Given the description of an element on the screen output the (x, y) to click on. 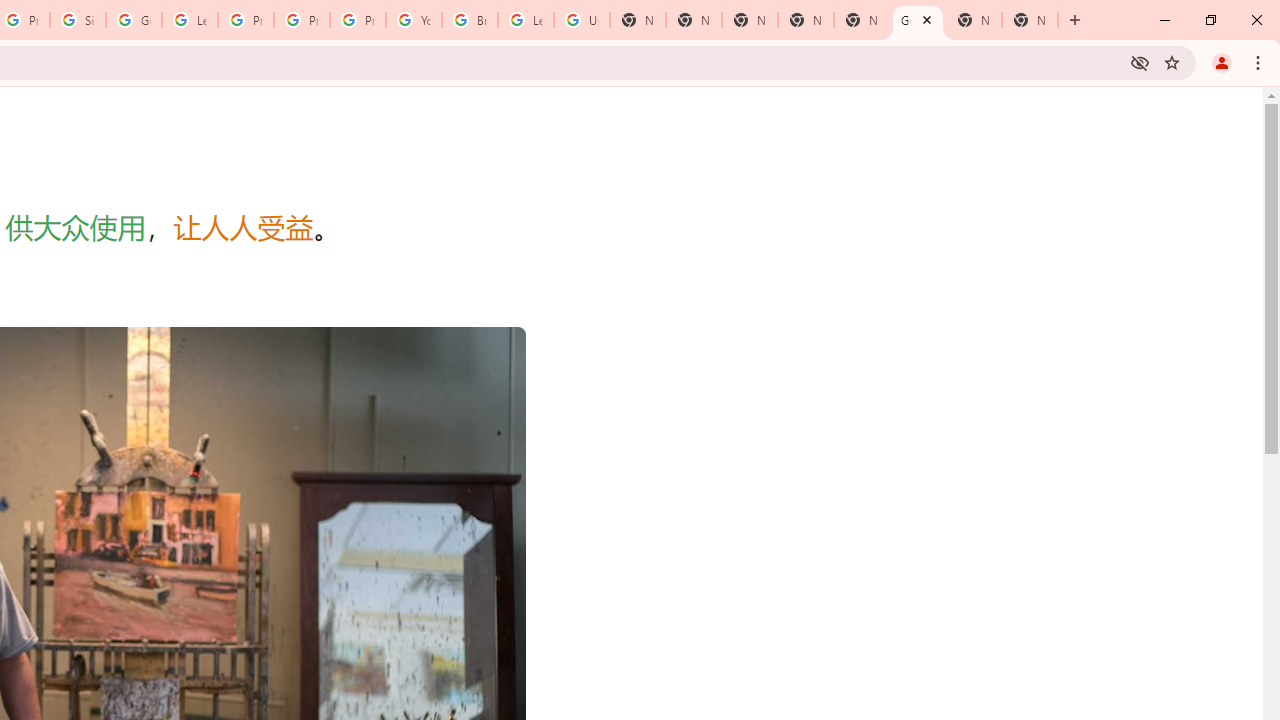
Privacy Help Center - Policies Help (301, 20)
Privacy Help Center - Policies Help (245, 20)
Browse Chrome as a guest - Computer - Google Chrome Help (469, 20)
